Given the description of an element on the screen output the (x, y) to click on. 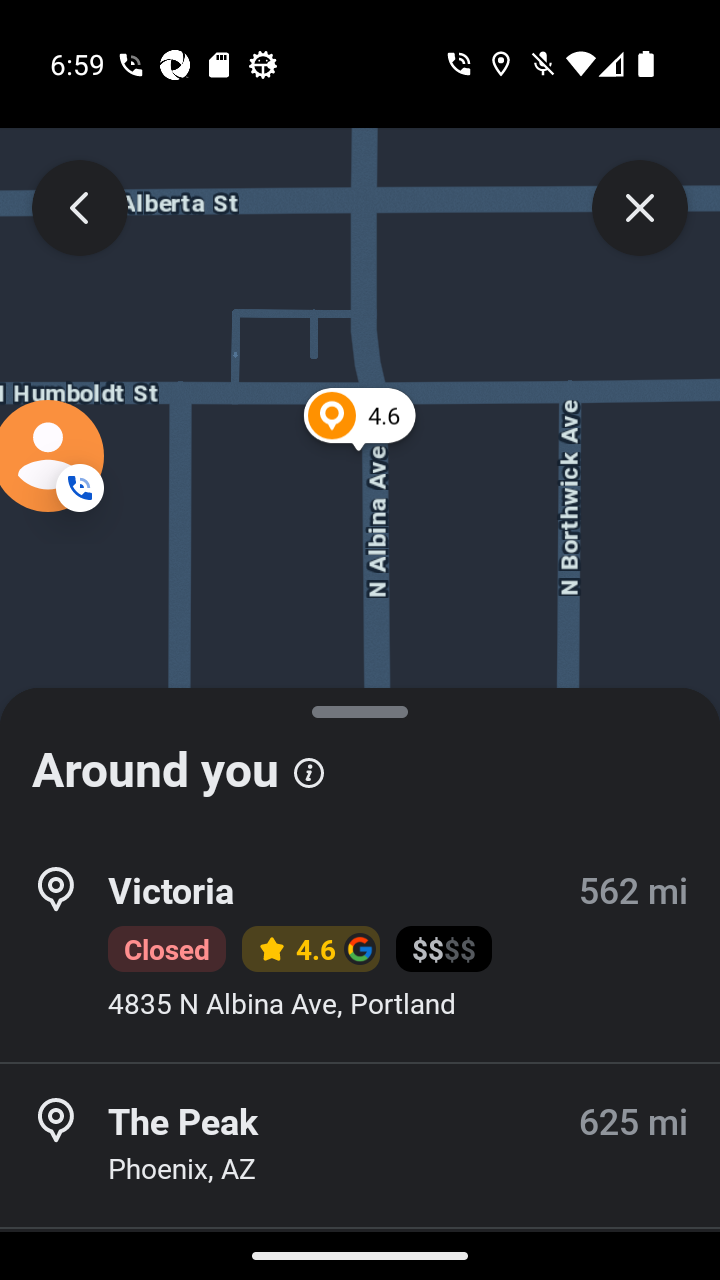
Around you (360, 760)
The Peak 625 mi Phoenix, AZ (360, 1145)
The peak 897 mi (360, 1254)
